Given the description of an element on the screen output the (x, y) to click on. 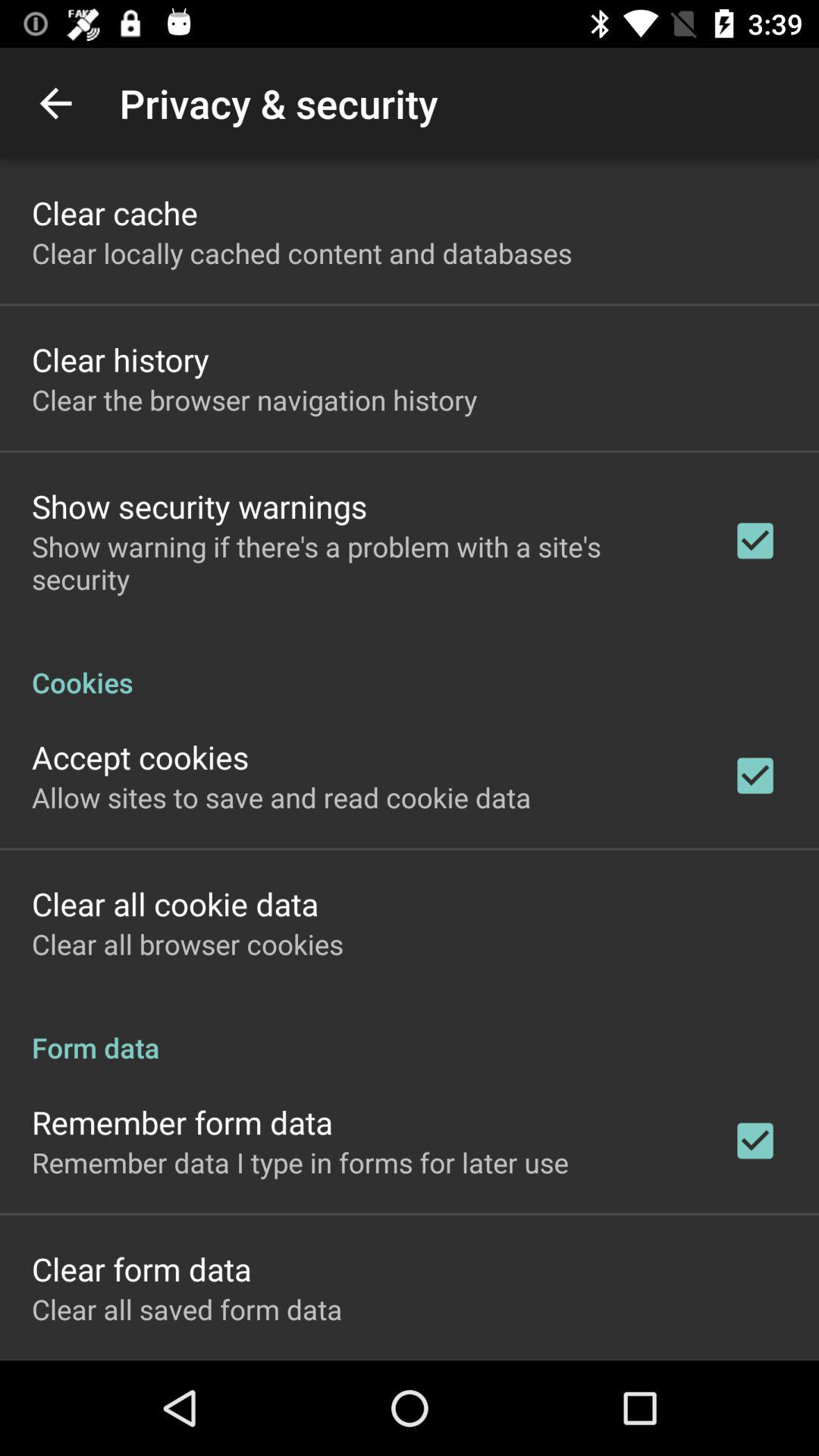
click the allow sites to (281, 797)
